Given the description of an element on the screen output the (x, y) to click on. 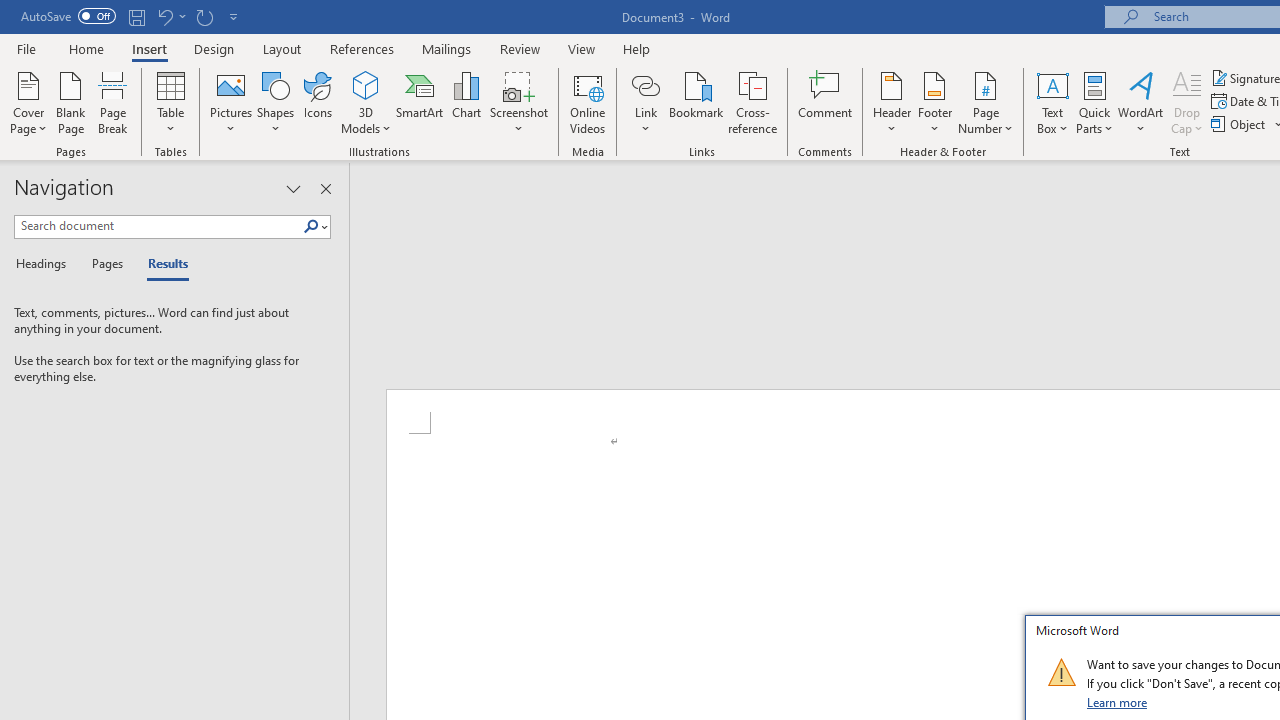
Pictures (230, 102)
Bookmark... (695, 102)
Pages (105, 264)
Headings (45, 264)
Comment (825, 102)
WordArt (1141, 102)
Page Break (113, 102)
Results (161, 264)
Quick Parts (1094, 102)
